Given the description of an element on the screen output the (x, y) to click on. 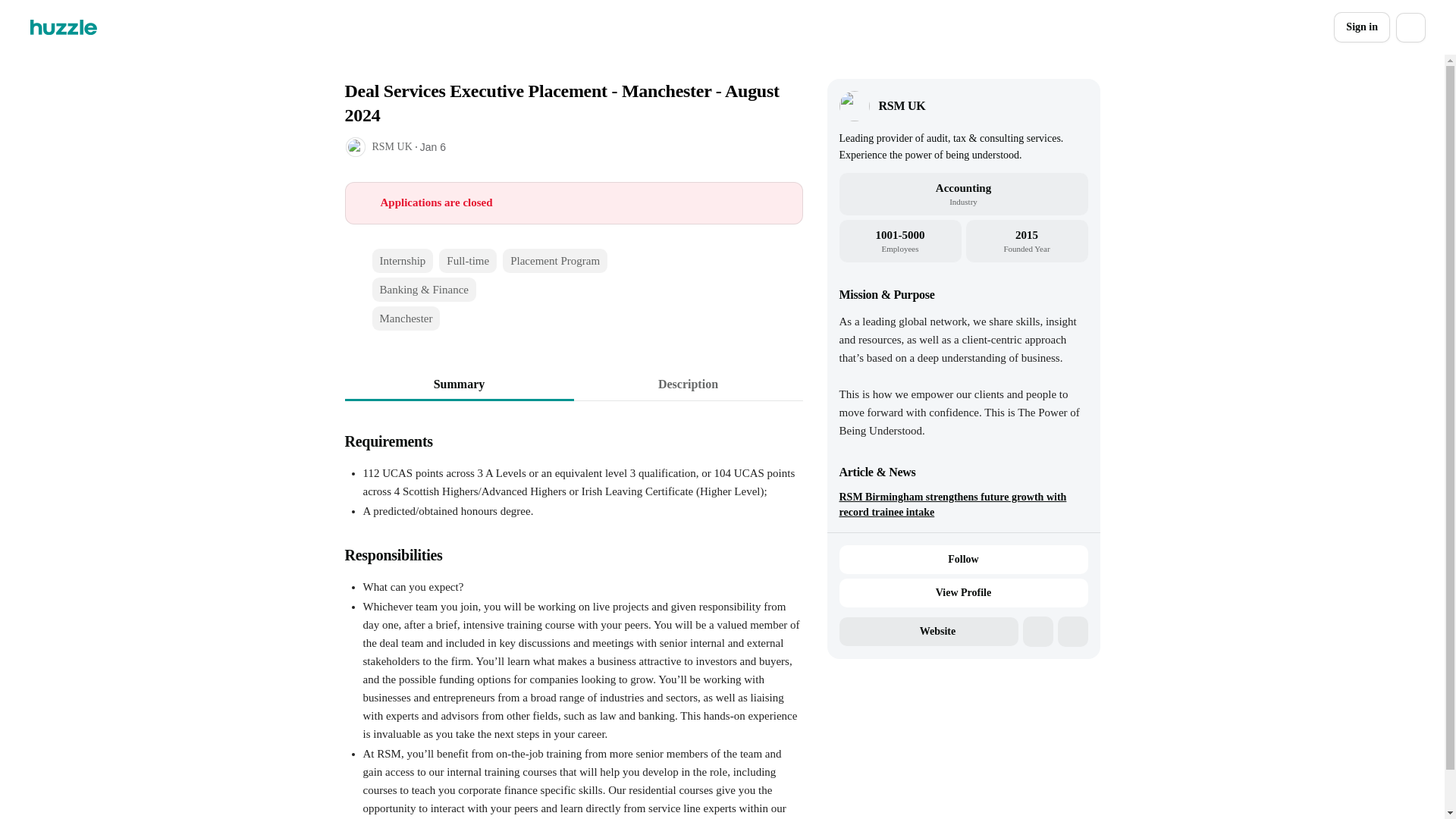
Website (927, 631)
Follow (962, 559)
RSM UK (391, 146)
Summary (458, 384)
View Profile (962, 592)
RSM UK (900, 105)
Sign in (1361, 27)
Description (687, 384)
